Given the description of an element on the screen output the (x, y) to click on. 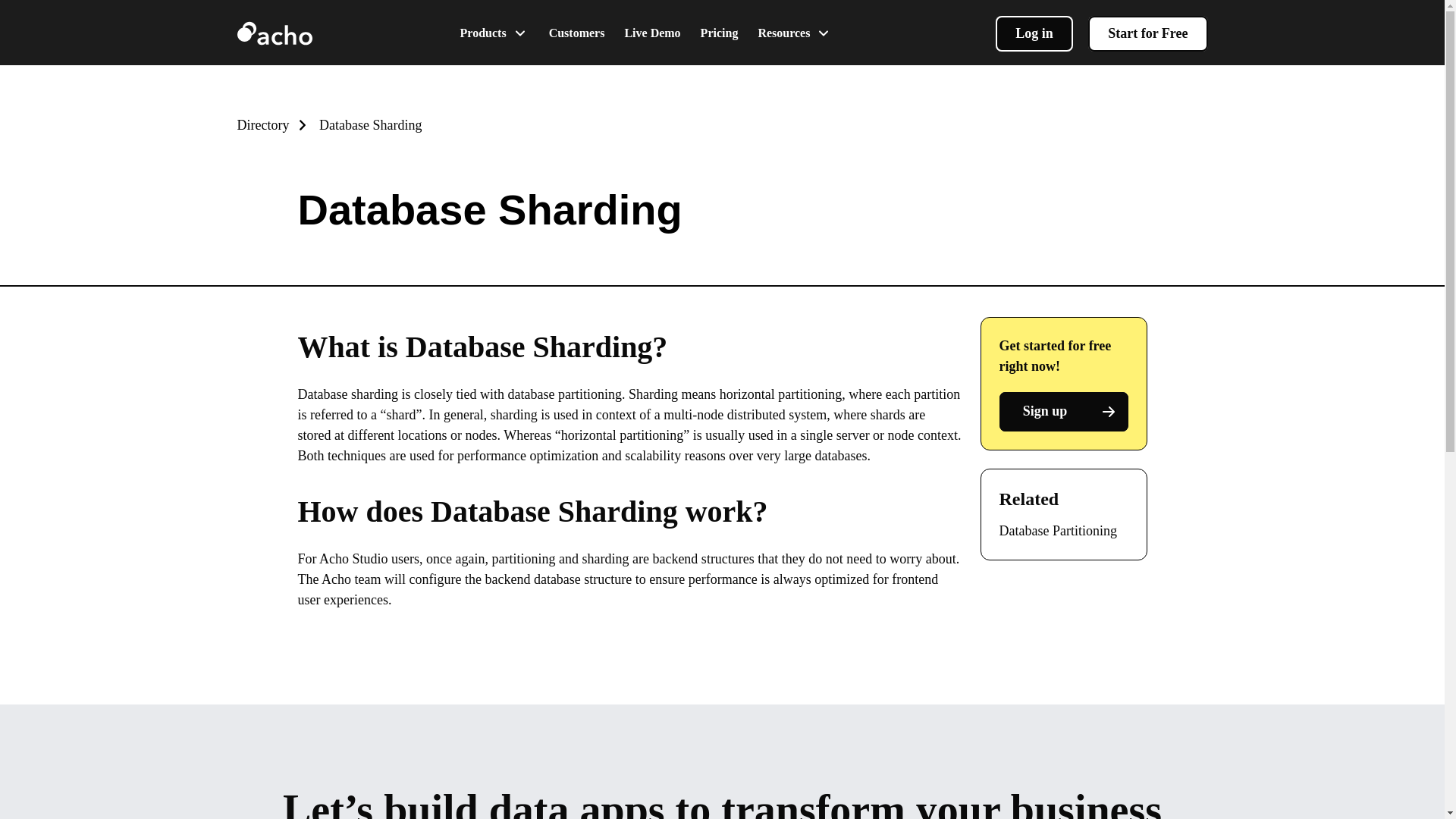
Pricing (719, 32)
Customers (576, 32)
Directory (273, 124)
Live Demo (651, 32)
Products (494, 32)
Resources (794, 32)
